Given the description of an element on the screen output the (x, y) to click on. 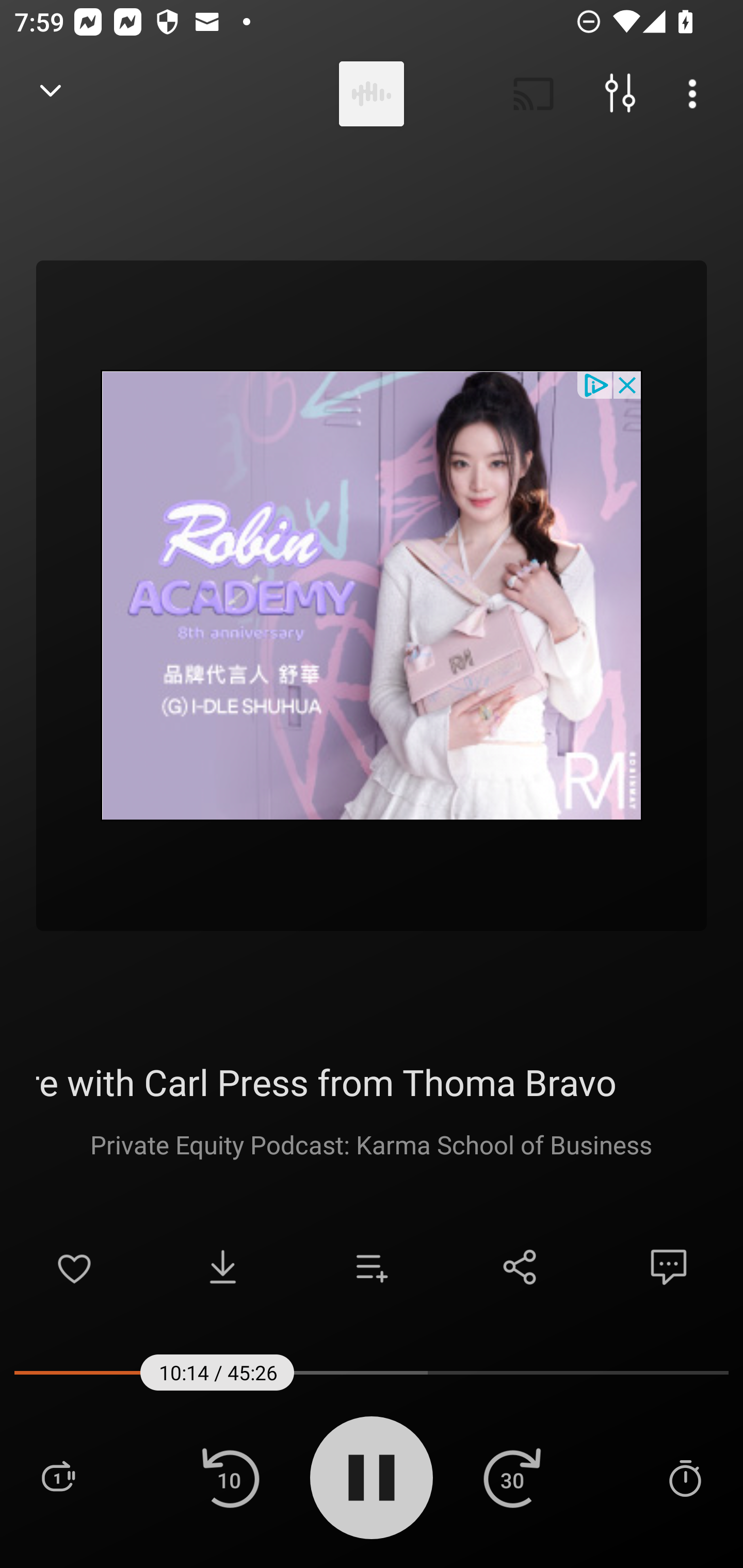
Cast. Disconnected (533, 93)
 Back (50, 94)
privacy_small (595, 384)
close_button (627, 384)
Private Equity Podcast: Karma School of Business (371, 1144)
Comments (668, 1266)
Add to Favorites (73, 1266)
Add to playlist (371, 1266)
Share (519, 1266)
 Playlist (57, 1477)
